Given the description of an element on the screen output the (x, y) to click on. 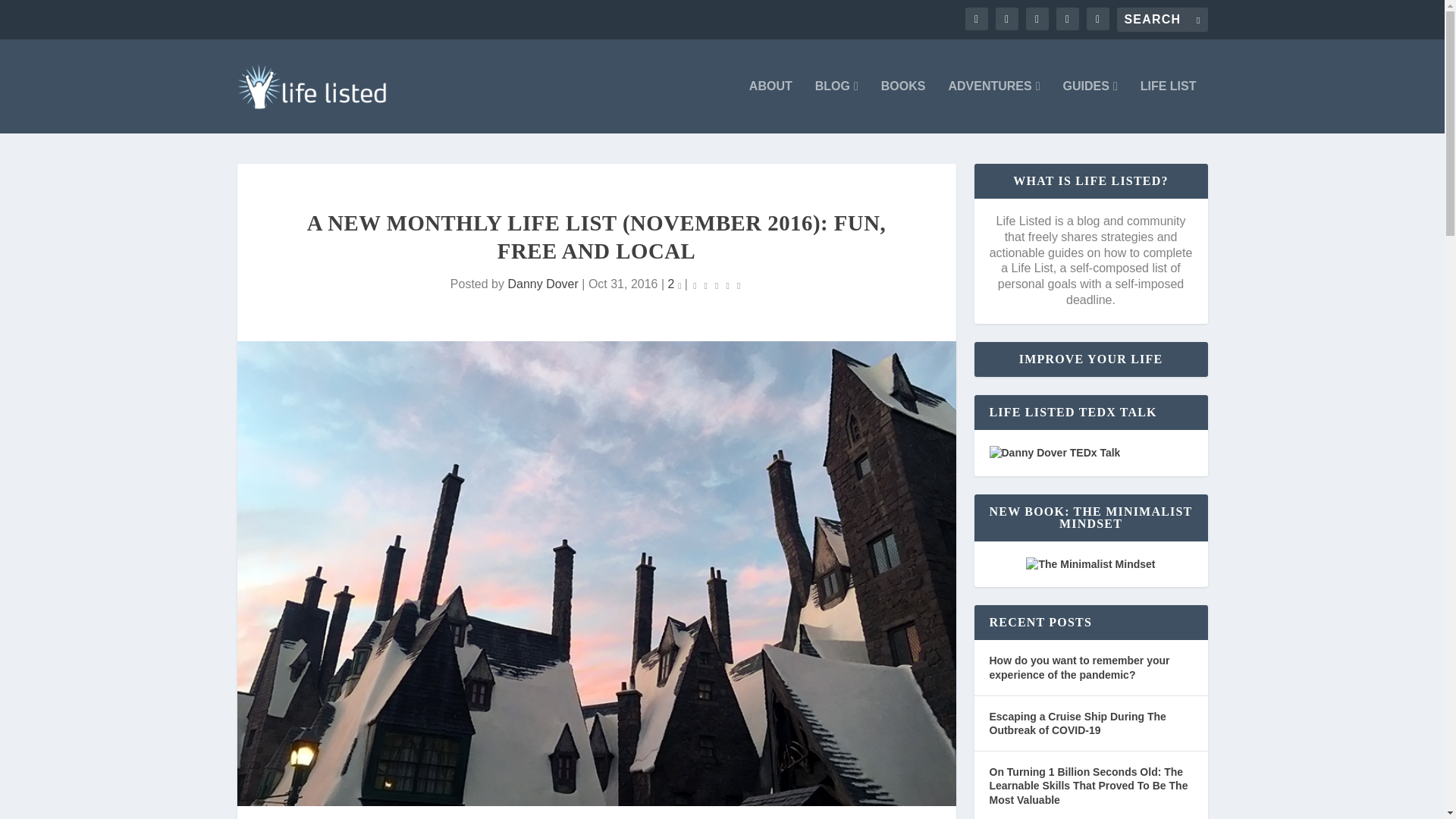
Rating: 0.00 (716, 284)
ADVENTURES (993, 106)
GUIDES (1090, 106)
LIFE LIST (1168, 106)
Danny Dover (542, 283)
Top Picks (1090, 106)
Search for: (1161, 19)
2 (674, 283)
Life List (1168, 106)
Posts by Danny Dover (542, 283)
